Given the description of an element on the screen output the (x, y) to click on. 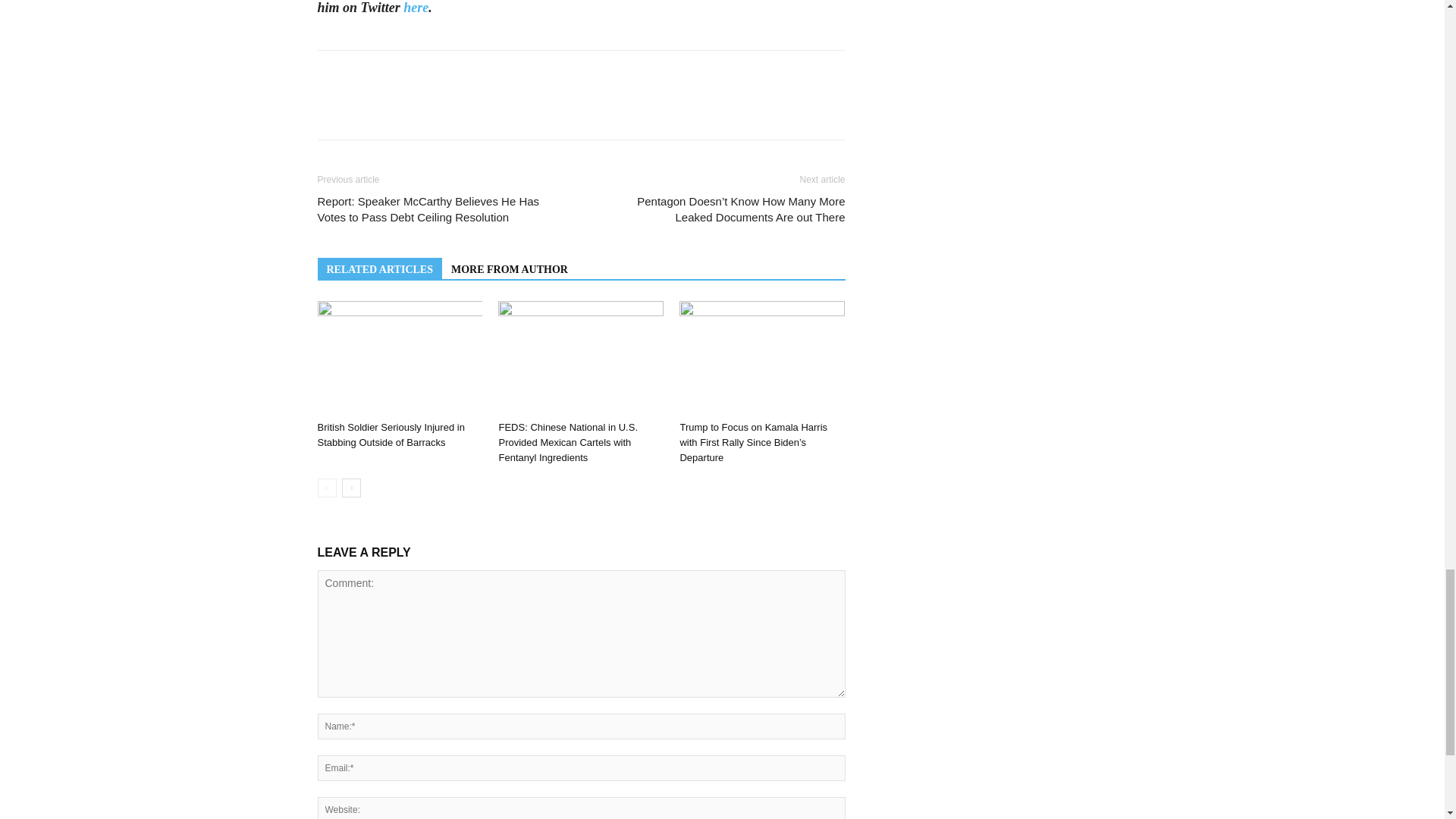
here (415, 7)
